Given the description of an element on the screen output the (x, y) to click on. 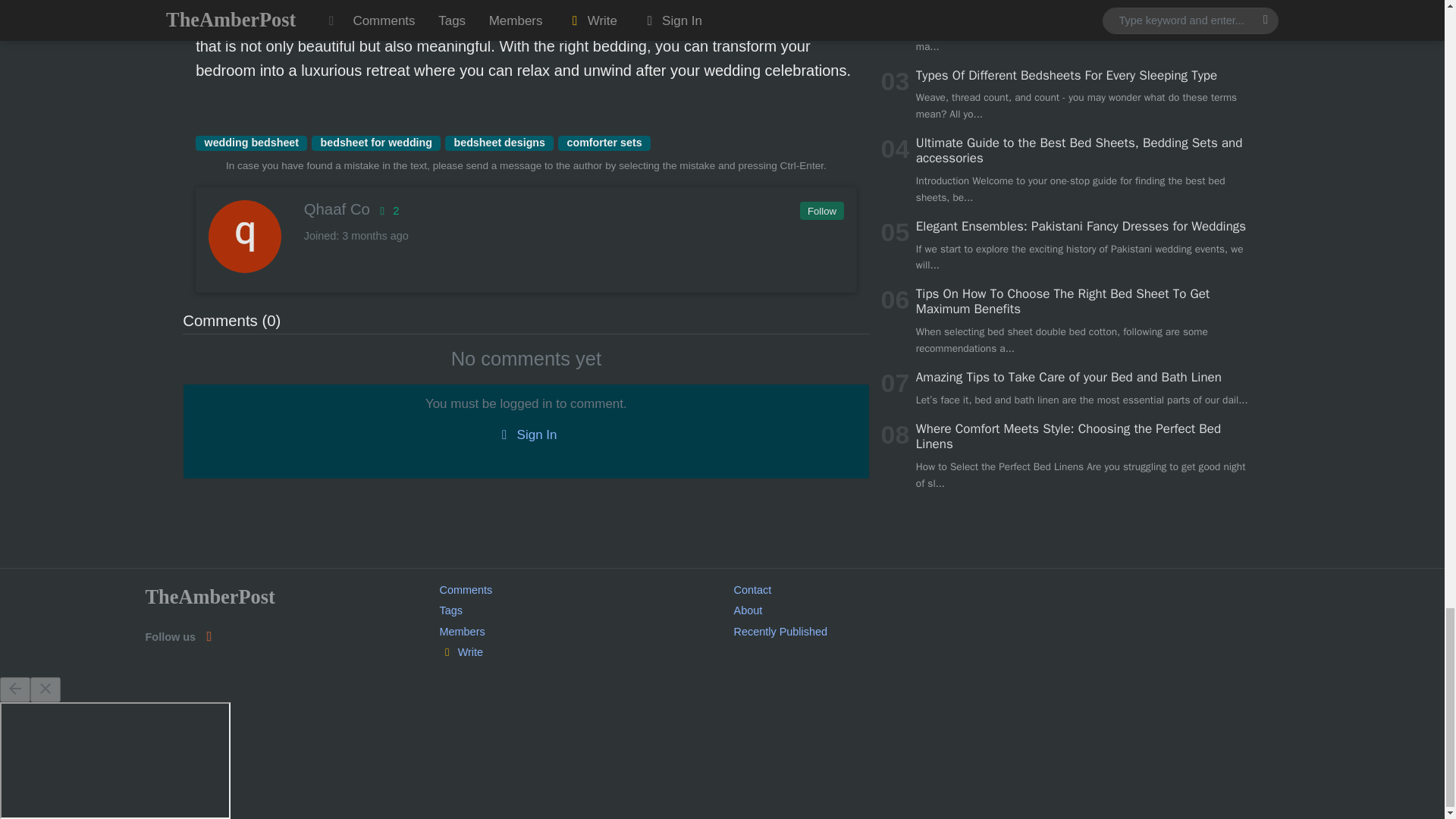
bedsheet for wedding (376, 142)
comforter sets (603, 142)
bedsheet designs (499, 142)
comforter sets (603, 142)
Rating (386, 210)
Qhaaf Co 2 (525, 208)
bedsheet for wedding (376, 142)
Sign In (525, 434)
wedding bedsheet (251, 142)
wedding bedsheet (251, 142)
